Given the description of an element on the screen output the (x, y) to click on. 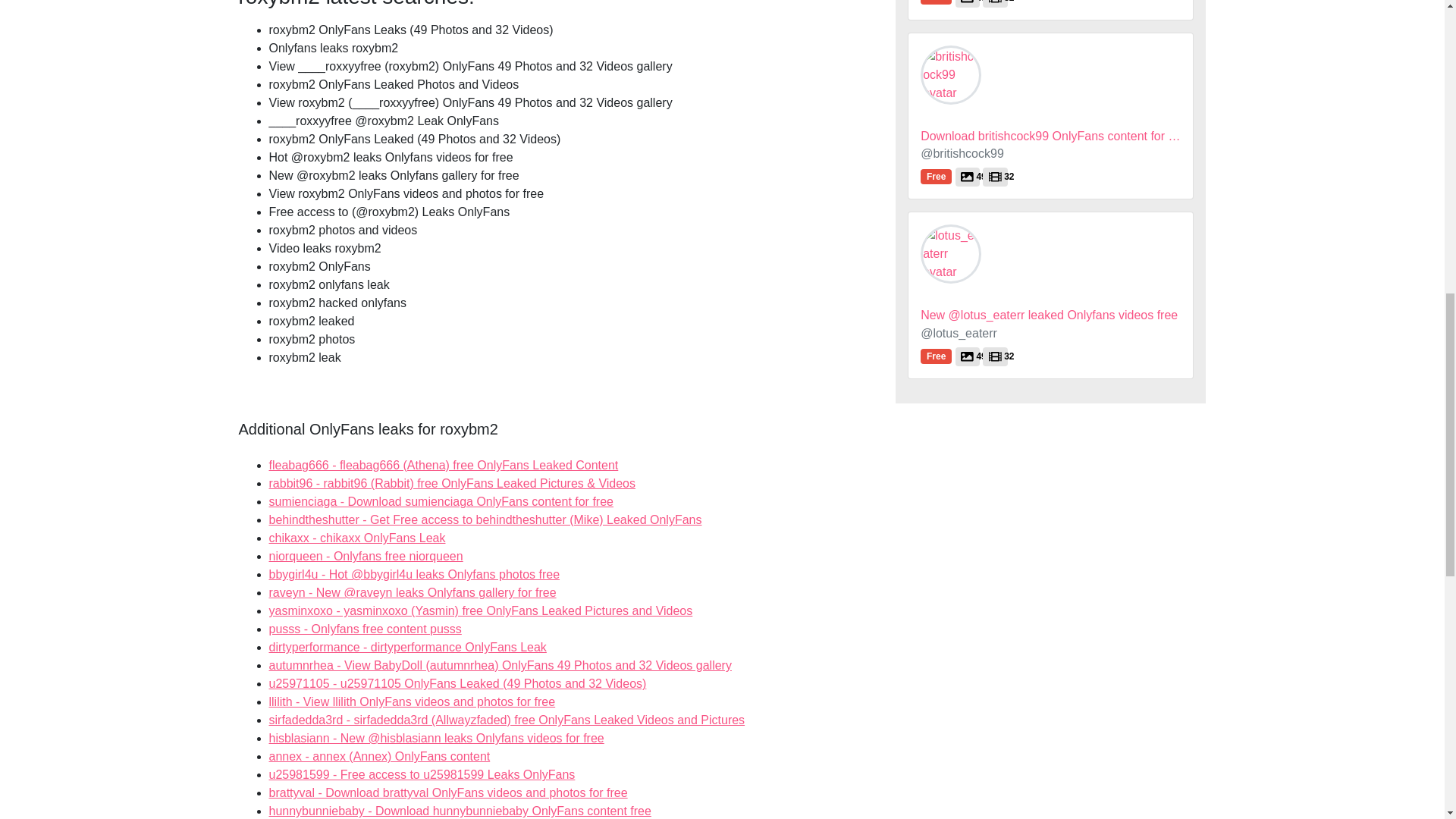
llilith - View llilith OnlyFans videos and photos for free (365, 555)
pusss - Onlyfans free content pusss (364, 628)
sumienciaga - Download sumienciaga OnlyFans content for free (439, 501)
chikaxx - chikaxx OnlyFans Leak (410, 701)
